Given the description of an element on the screen output the (x, y) to click on. 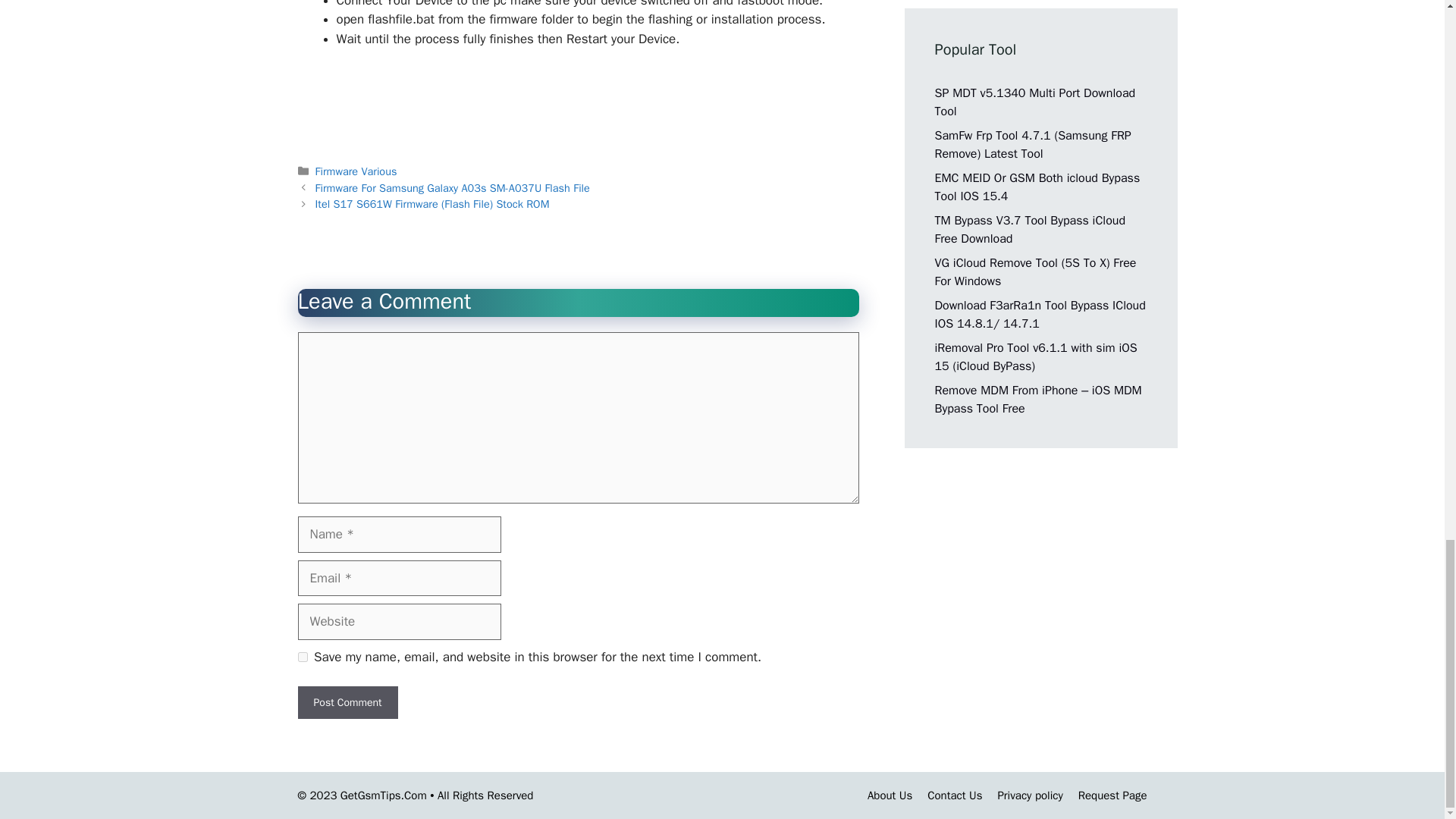
Firmware Various (356, 171)
Post Comment (347, 702)
Contact Us (954, 795)
Privacy policy (1029, 795)
yes (302, 656)
Post Comment (347, 702)
About Us (889, 795)
Firmware For Samsung Galaxy A03s SM-A037U Flash File (452, 187)
Advertisement (577, 101)
